Given the description of an element on the screen output the (x, y) to click on. 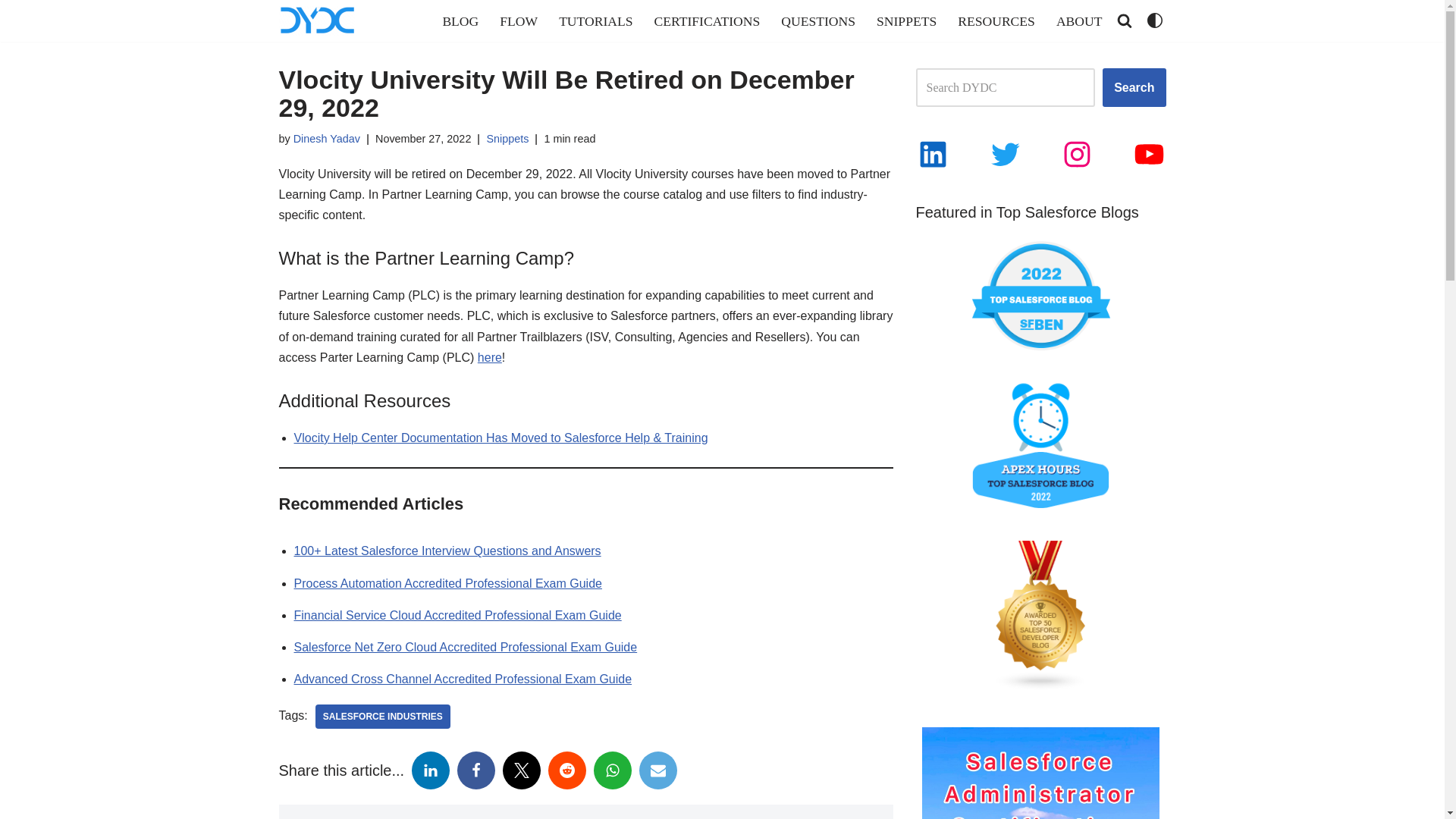
Snippets (507, 138)
Advanced Cross Channel Accredited Professional Exam Guide (462, 678)
Skip to content (11, 31)
Facebook (476, 770)
Email (658, 770)
ABOUT (1079, 20)
Dinesh Yadav (326, 138)
here (489, 357)
Process Automation Accredited Professional Exam Guide (448, 583)
Salesforce Net Zero Cloud Accredited Professional Exam Guide (465, 646)
QUESTIONS (818, 20)
salesforce Industries (382, 716)
RESOURCES (996, 20)
Twitter (521, 770)
TUTORIALS (595, 20)
